Given the description of an element on the screen output the (x, y) to click on. 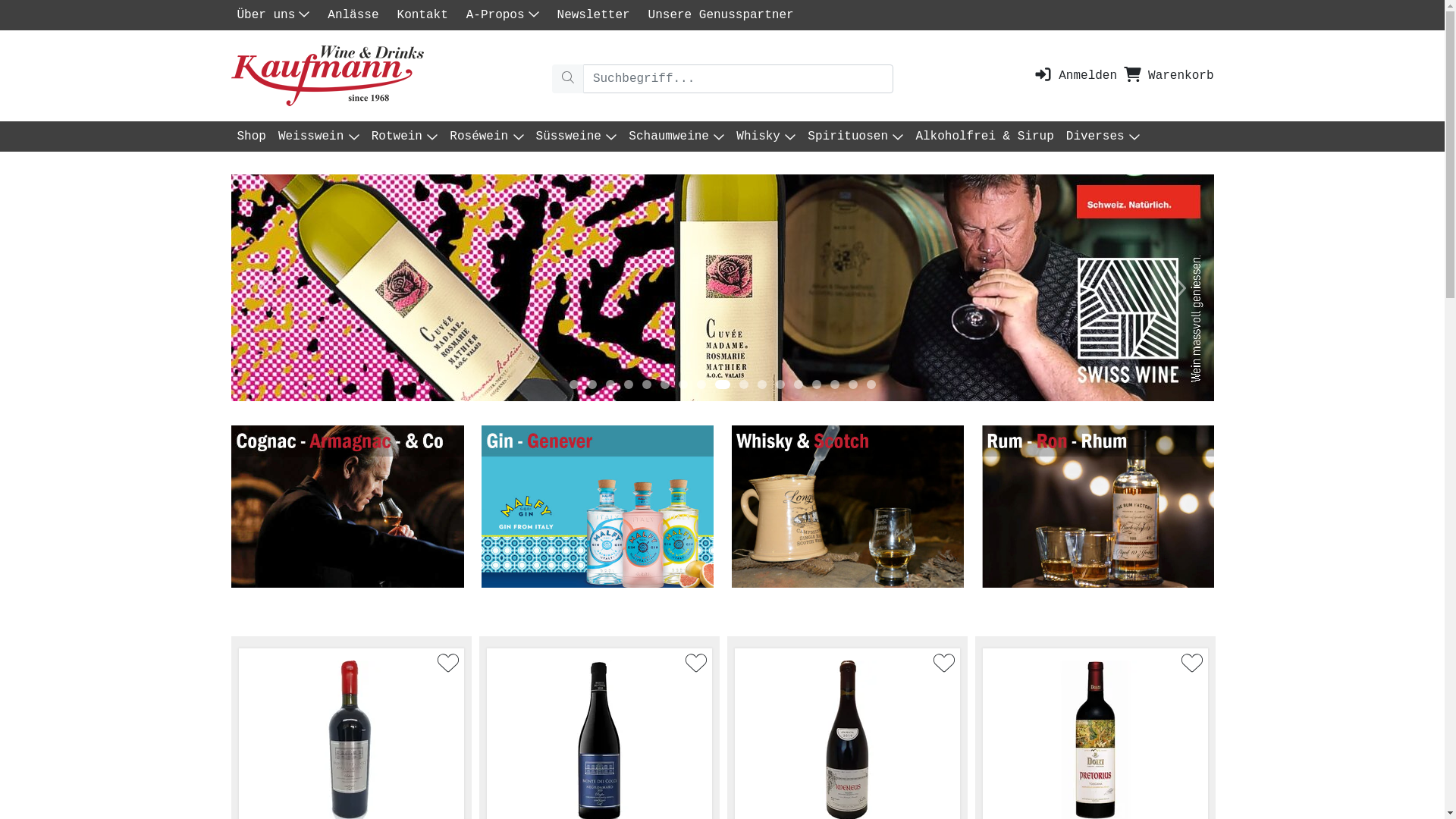
Spirituosen Element type: text (855, 136)
Alkoholfrei & Sirup Element type: text (984, 136)
Weisswein Element type: text (318, 136)
Schaumweine Element type: text (676, 136)
Next Element type: text (1179, 287)
A-Propos Element type: text (505, 15)
Newsletter Element type: text (596, 15)
Unsere Genusspartner Element type: text (724, 15)
Kontakt Element type: text (425, 15)
Rotwein Element type: text (404, 136)
Warenkorb Element type: text (1168, 75)
Anmelden Element type: text (1075, 75)
Diverses Element type: text (1102, 136)
Previous Element type: text (264, 287)
Whisky Element type: text (765, 136)
Shop Element type: text (250, 136)
